Given the description of an element on the screen output the (x, y) to click on. 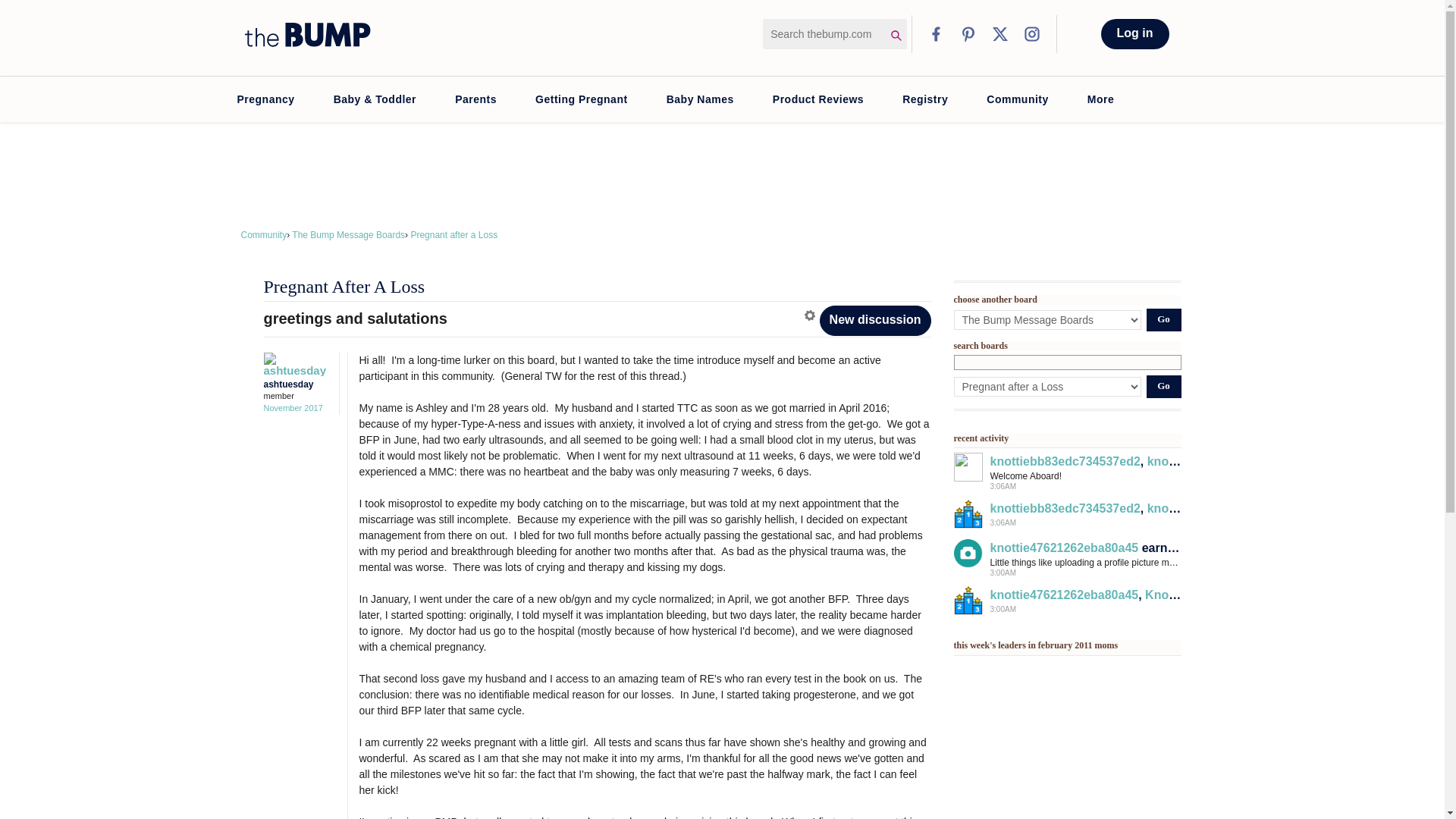
ashtuesday (293, 363)
November 2, 2017 10:26PM (293, 407)
member (297, 395)
Go (1163, 386)
Options (811, 315)
Log in (1134, 33)
Go (1163, 319)
Pregnancy (264, 99)
